Given the description of an element on the screen output the (x, y) to click on. 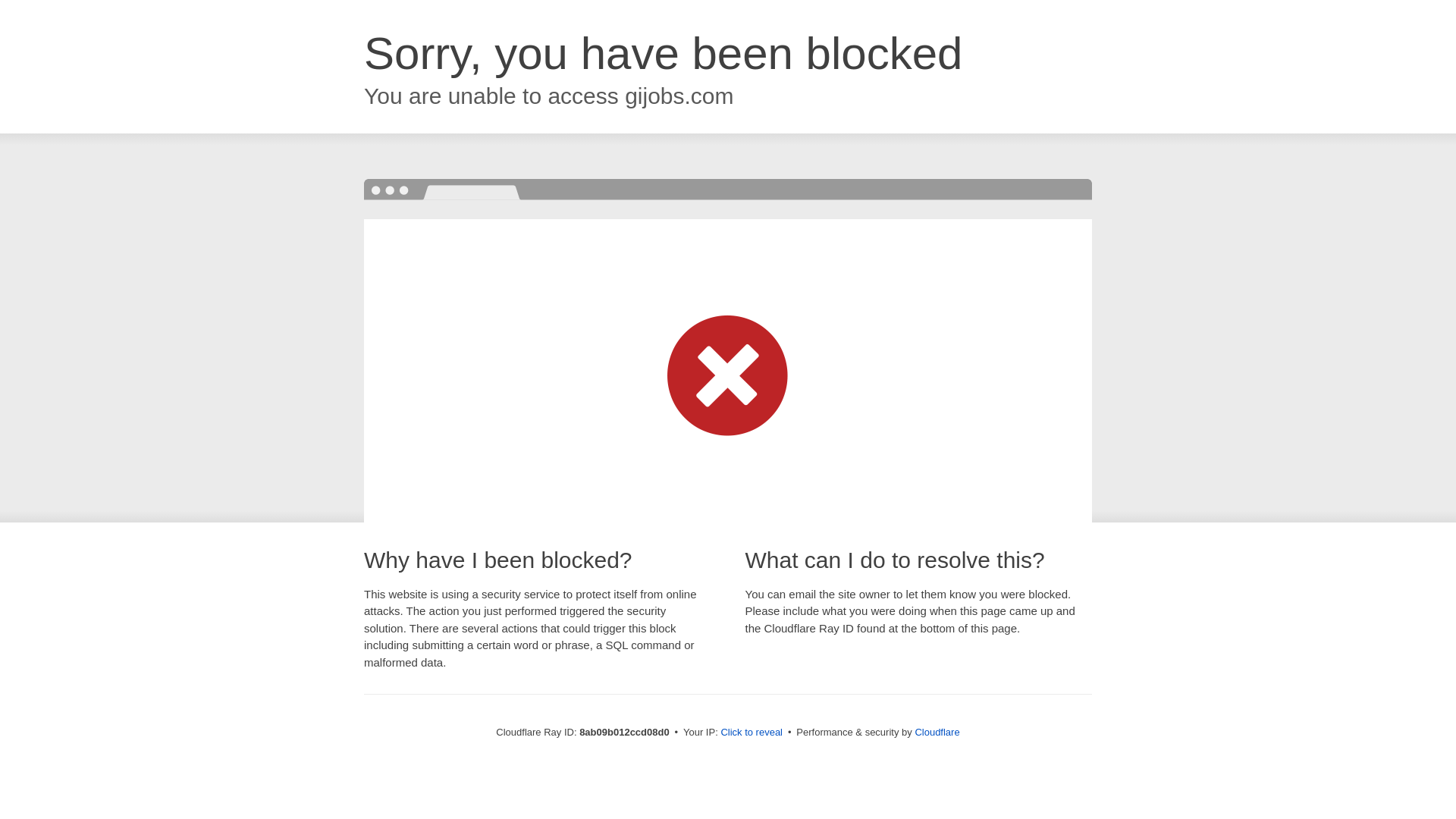
Cloudflare (936, 731)
Click to reveal (751, 732)
